Given the description of an element on the screen output the (x, y) to click on. 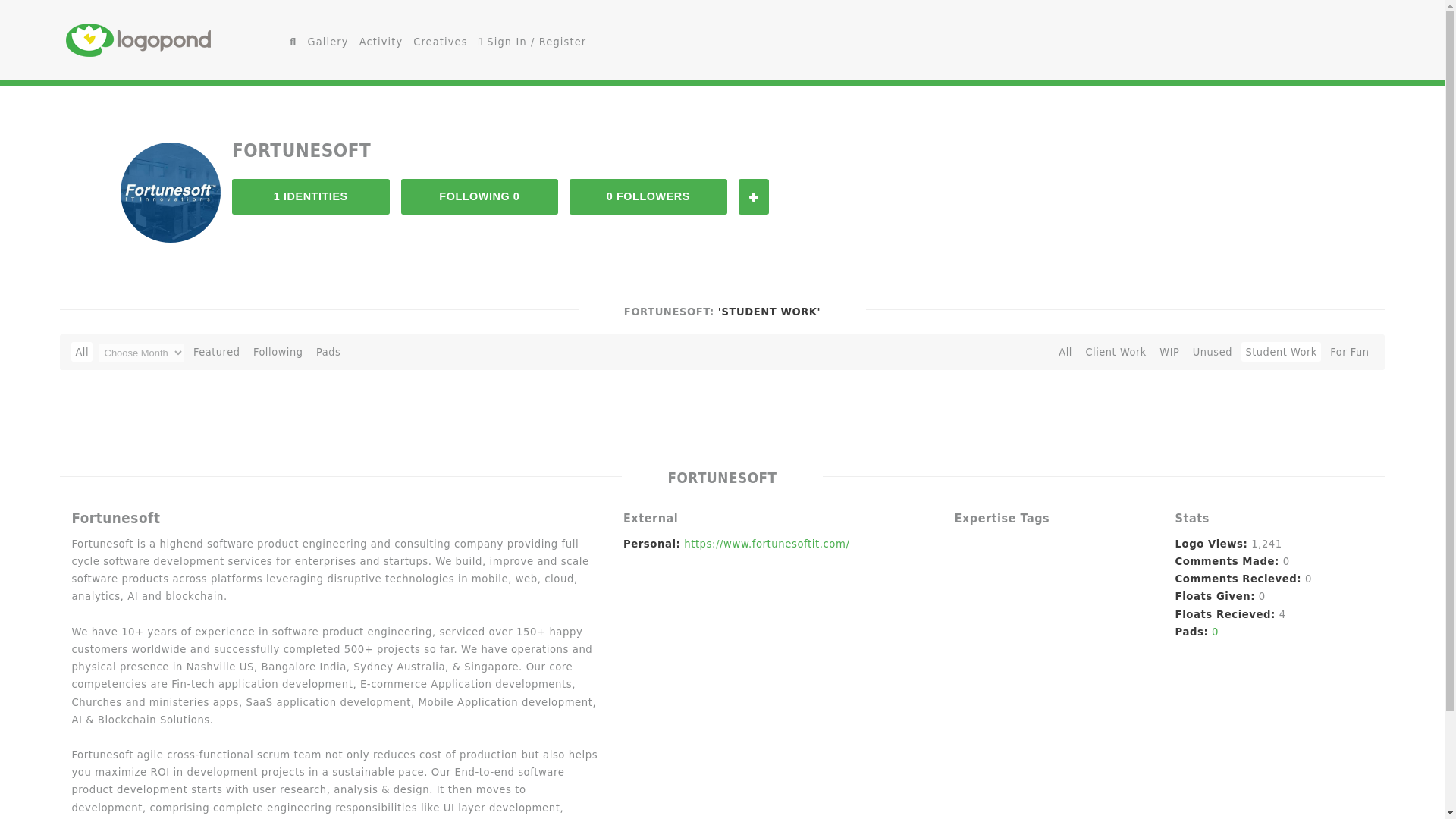
1 IDENTITIES (310, 196)
FOLLOWING 0 (480, 196)
Featured (216, 351)
Activity (381, 41)
Student Work (1280, 351)
All (82, 351)
Pads (328, 351)
Gallery (327, 41)
Fortunesoft (170, 192)
All (1064, 351)
